Given the description of an element on the screen output the (x, y) to click on. 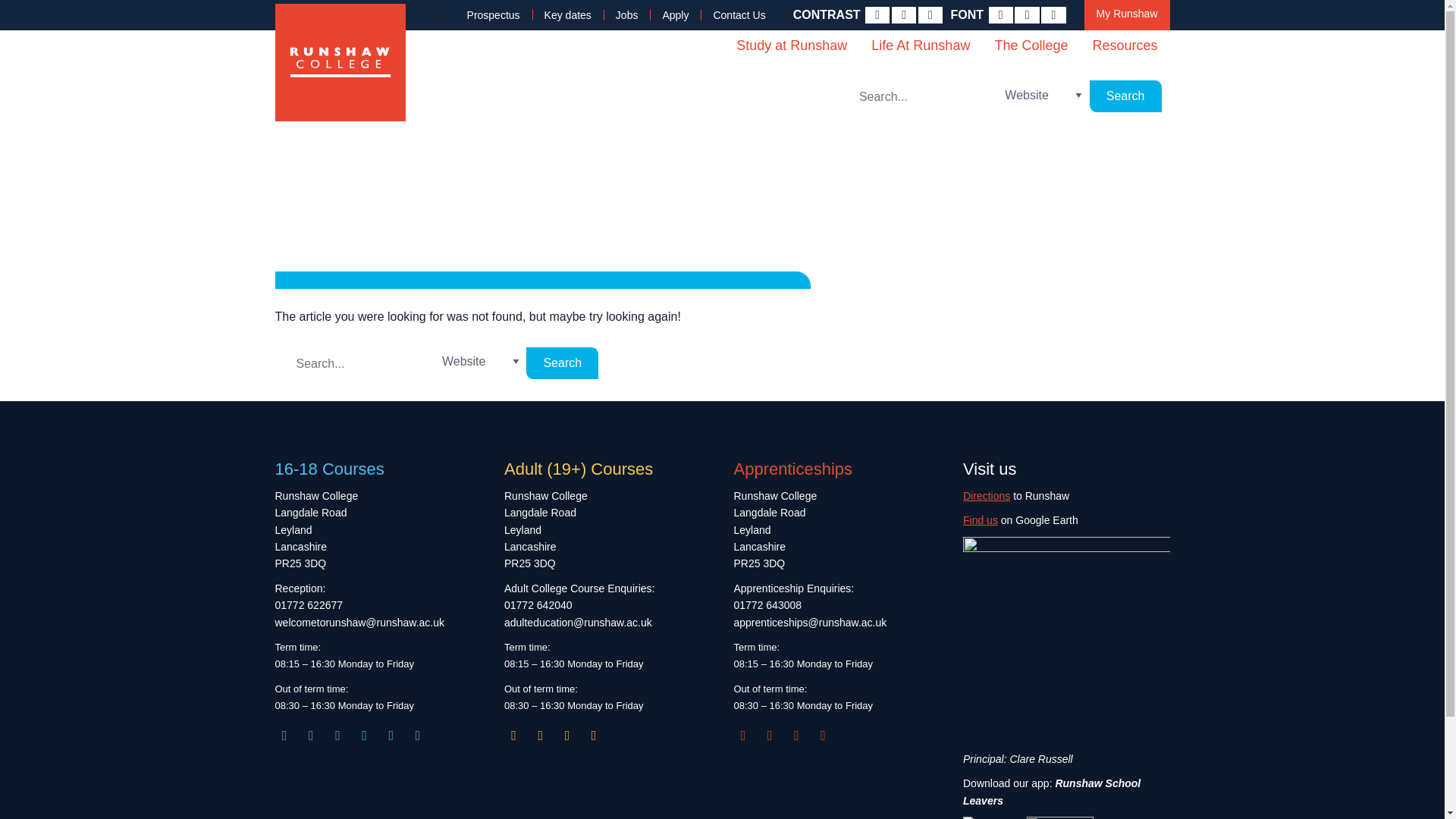
Runshaw College 16-18 Campus vimeo (416, 735)
RunshawCollegeSFC 16-18 Campus facebook (310, 735)
runshawcollege 16-18 Campus twitter-x (364, 735)
16-18 Campus (378, 736)
My Runshaw (1127, 15)
RunshawCollege 16-18 Campus youtube-play (390, 735)
runshawcollege 16-18 Campus instagram (284, 735)
Runshaw College 16-18 Campus linkedin (338, 735)
Set default contrast mode (876, 14)
Jobs (627, 15)
